Given the description of an element on the screen output the (x, y) to click on. 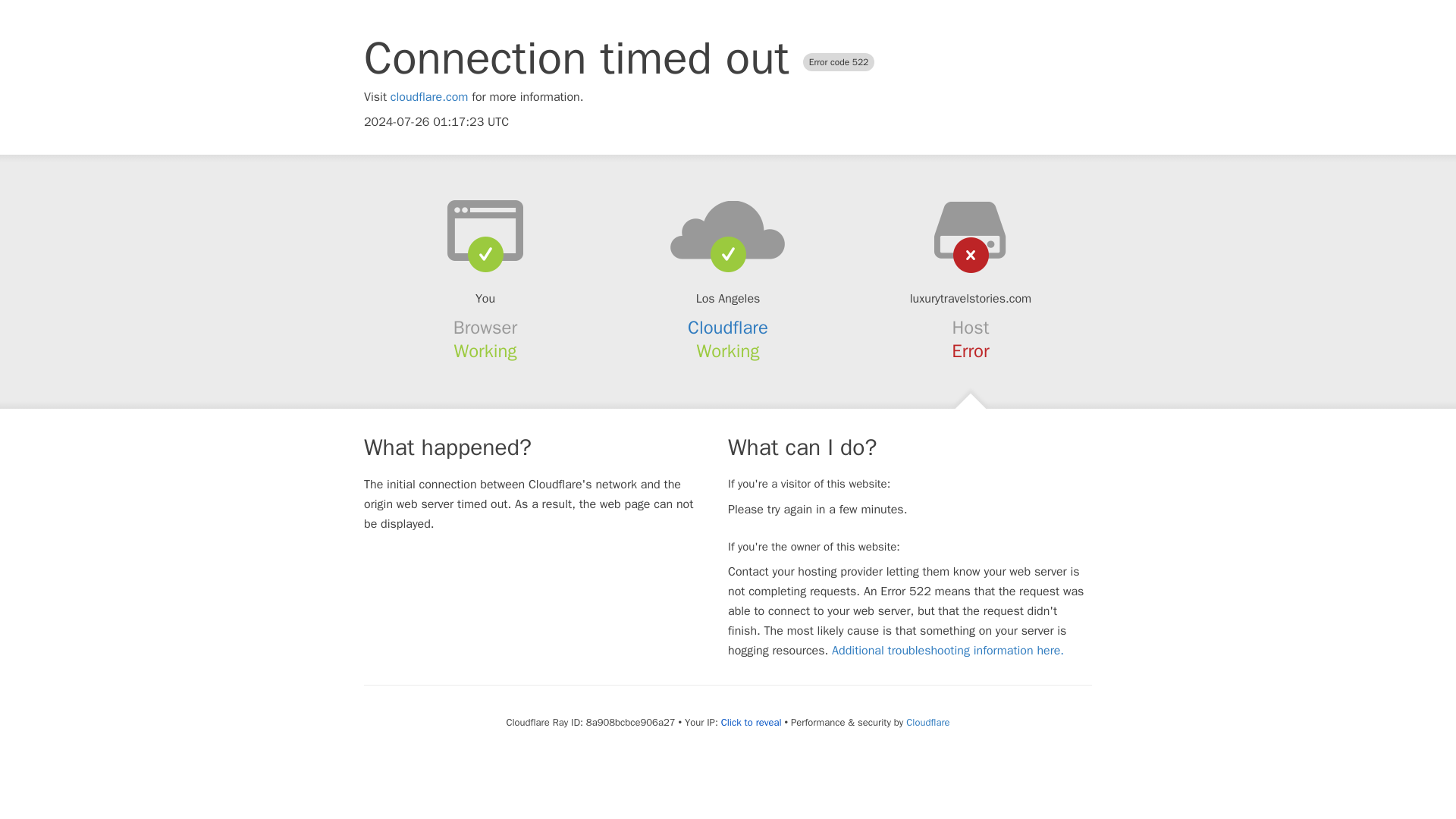
Click to reveal (750, 722)
Cloudflare (927, 721)
Additional troubleshooting information here. (947, 650)
cloudflare.com (429, 96)
Cloudflare (727, 327)
